Given the description of an element on the screen output the (x, y) to click on. 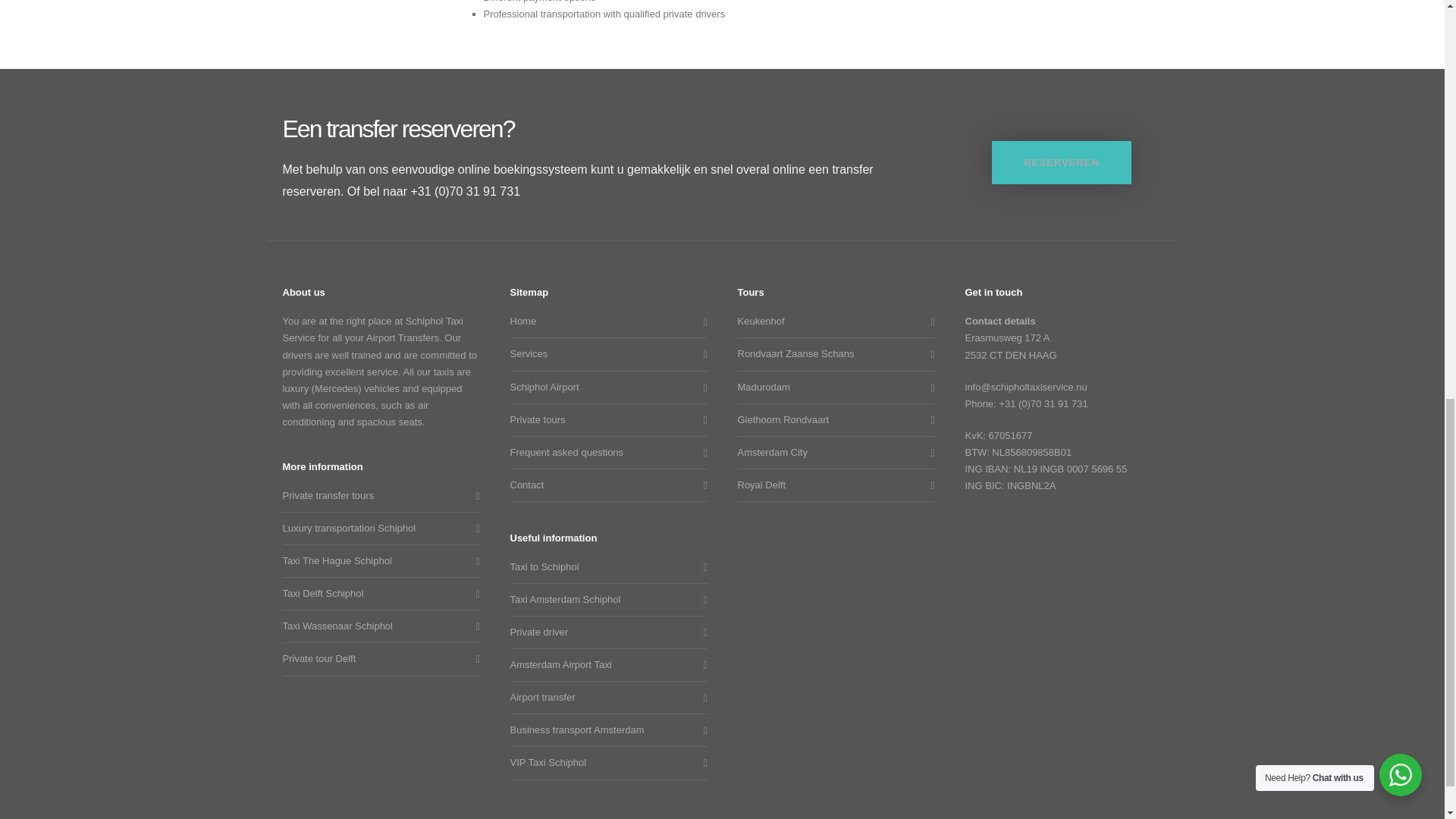
Private transfer tours (376, 495)
Home (603, 321)
RESERVEREN (1061, 162)
Services (603, 353)
Frequent asked questions (603, 452)
Schiphol Airport (603, 387)
Taxi Wassenaar Schiphol (376, 626)
Private tours (603, 419)
Private tour Delft (376, 658)
Contact (603, 484)
